Given the description of an element on the screen output the (x, y) to click on. 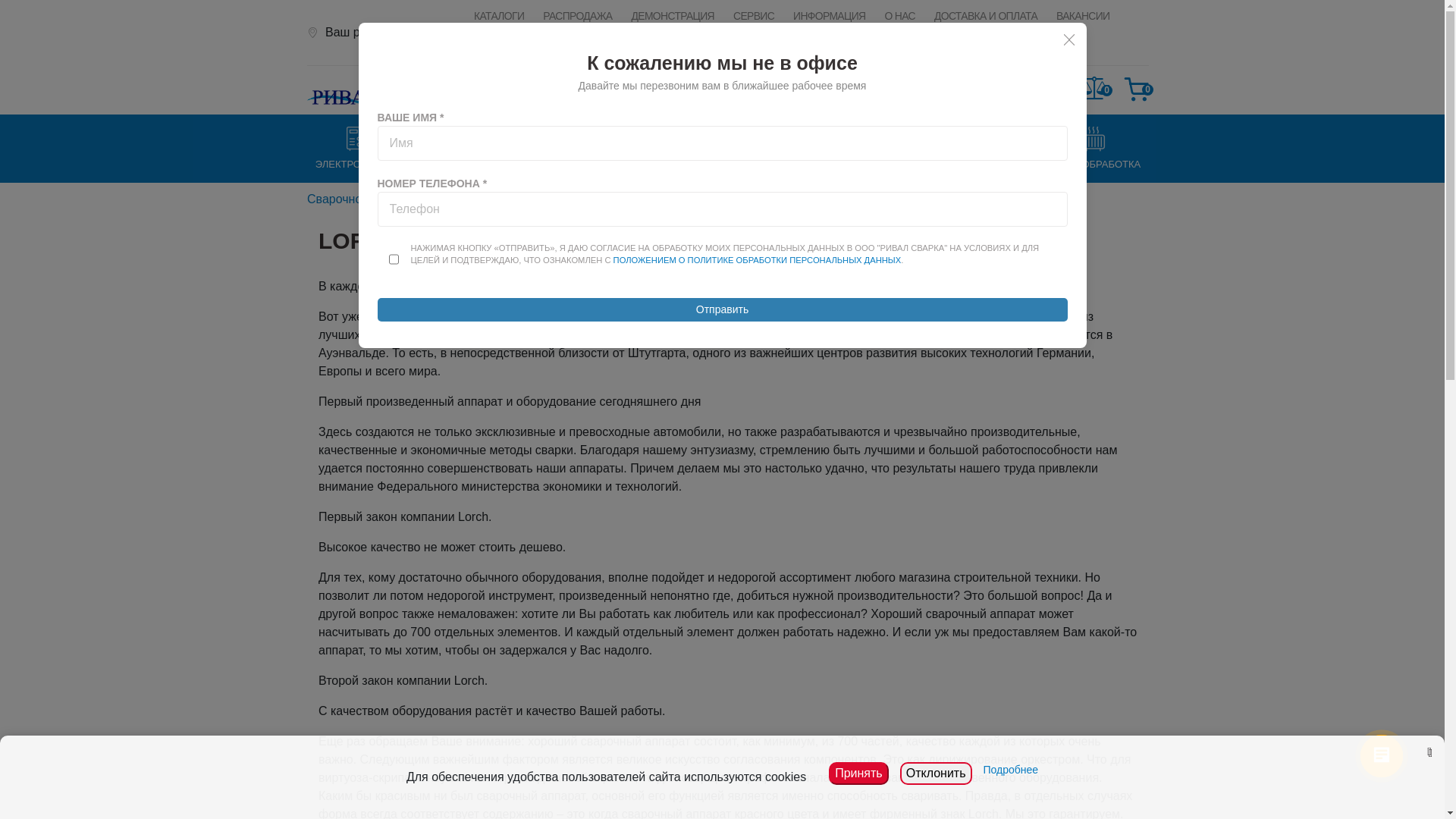
+375 (44) 572-20-20 Element type: text (935, 89)
0 Element type: text (1093, 89)
cookies_close Element type: text (1429, 750)
0 Element type: text (1136, 91)
